Given the description of an element on the screen output the (x, y) to click on. 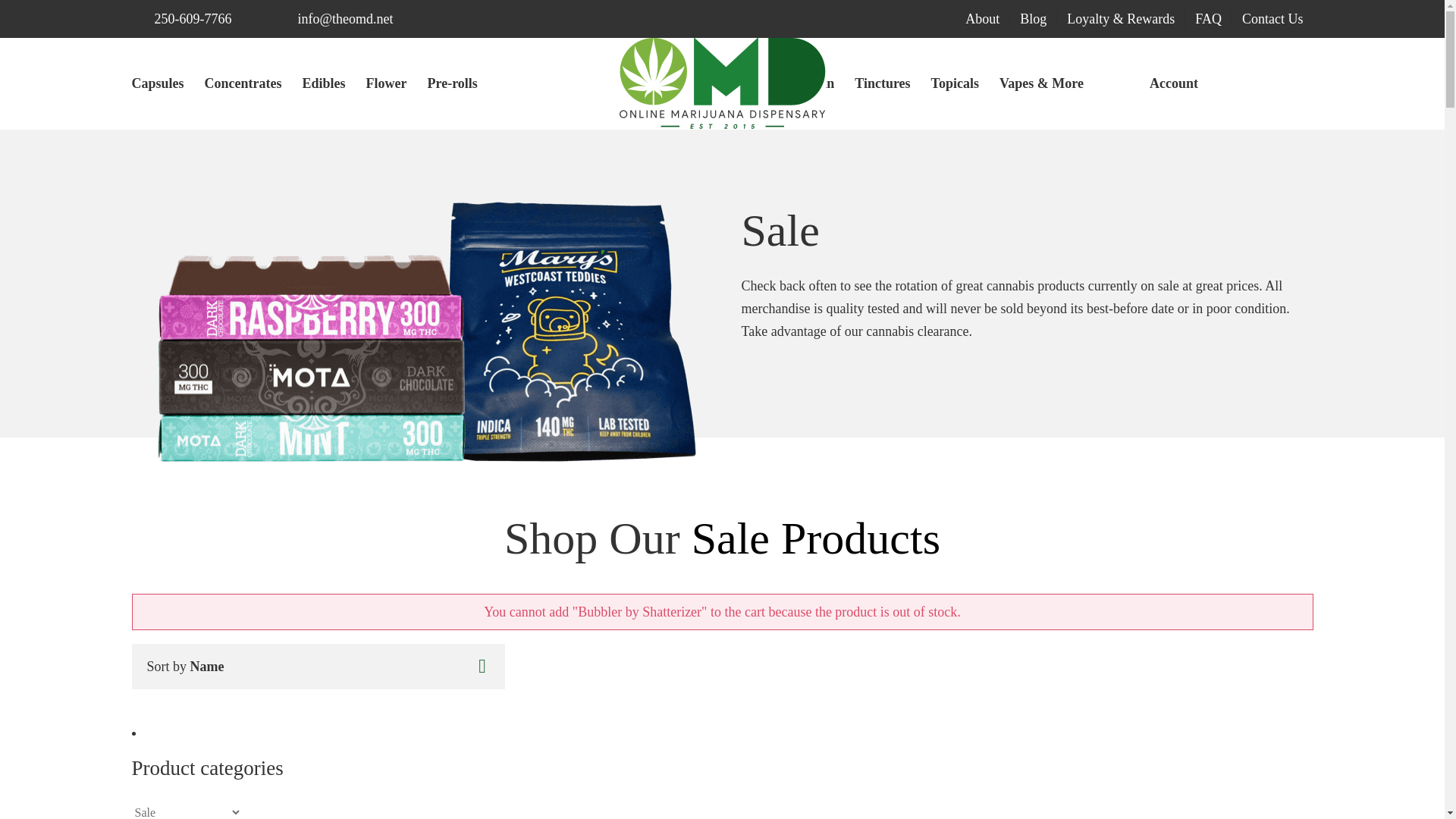
About (982, 18)
Concentrates (243, 83)
Sort by Name (185, 666)
Blog (1033, 18)
FAQ (1208, 18)
250-609-7766 (192, 17)
Contact Us (1272, 18)
